Given the description of an element on the screen output the (x, y) to click on. 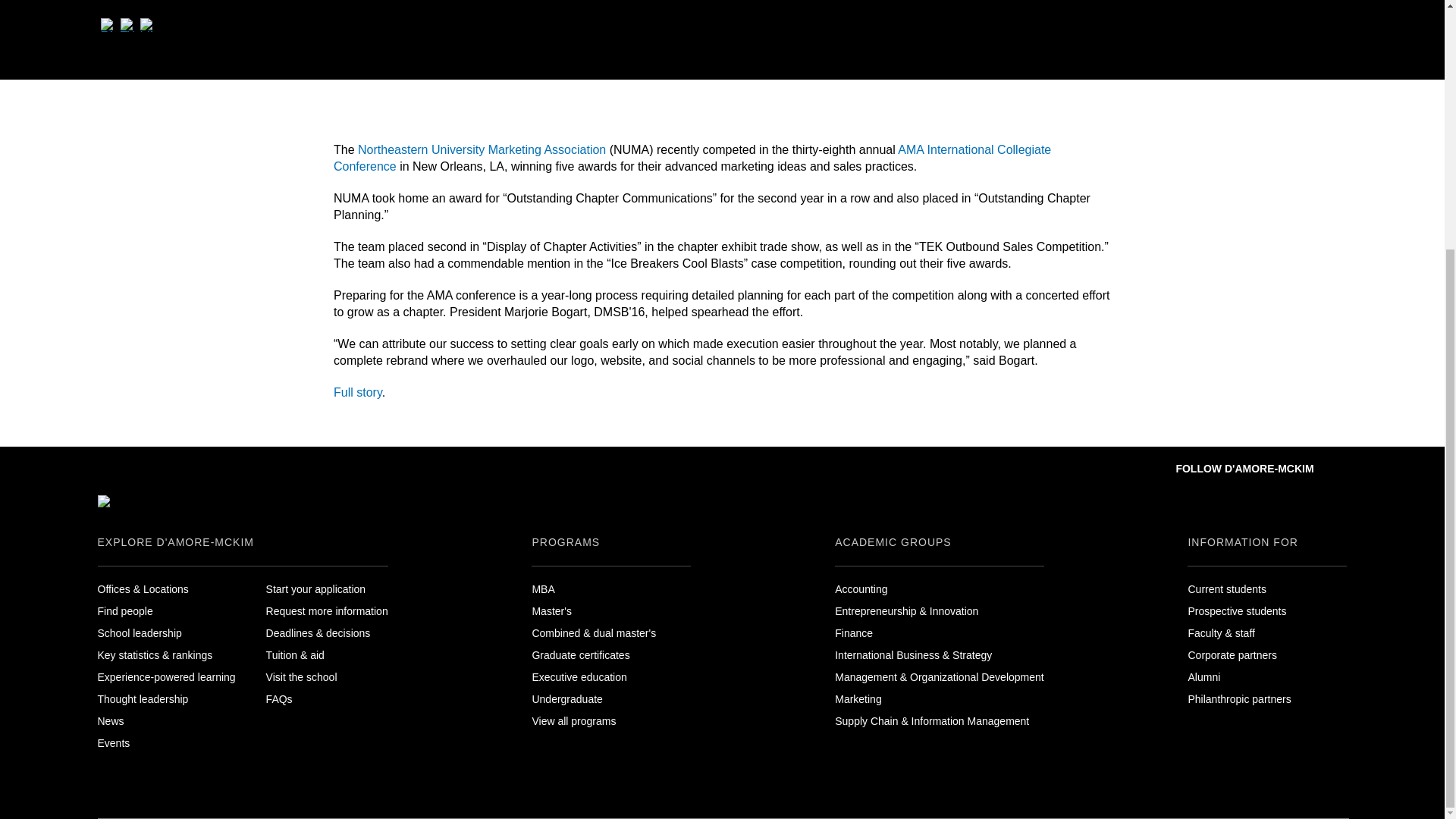
Twitter (126, 26)
LinkedIn (145, 26)
Facebook (106, 26)
